Given the description of an element on the screen output the (x, y) to click on. 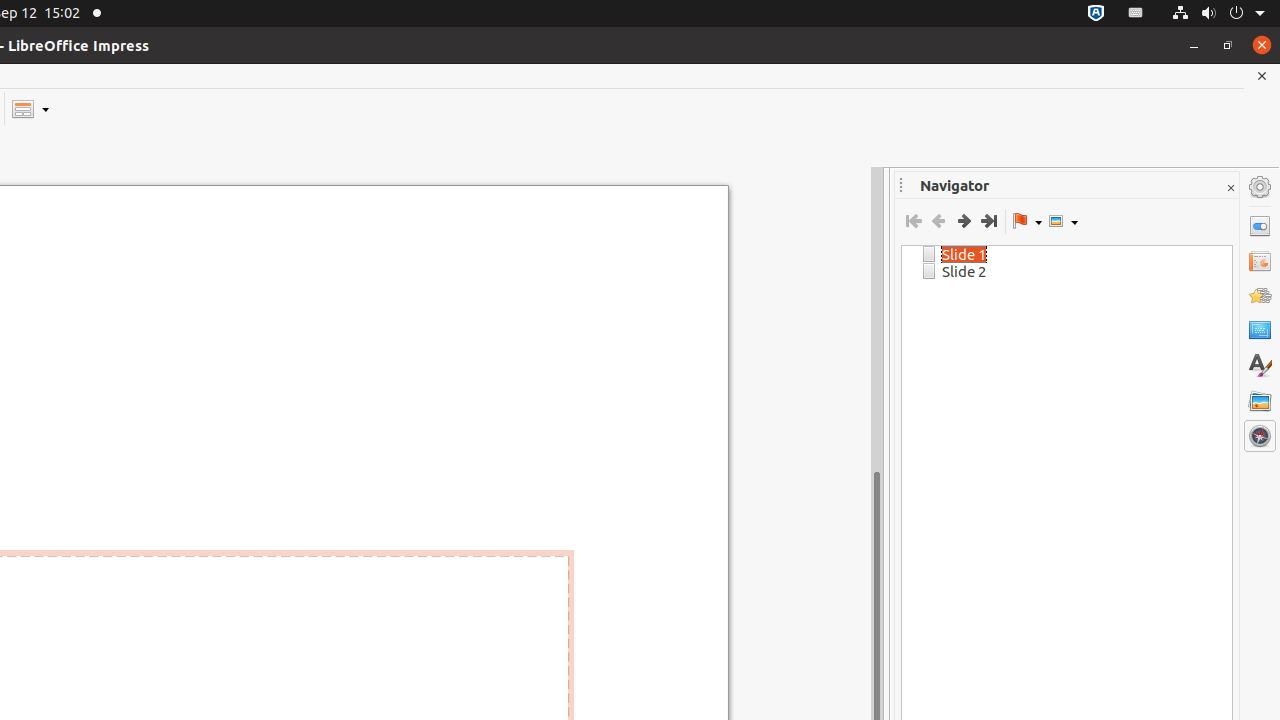
Styles Element type: radio-button (1260, 366)
Animation Element type: radio-button (1260, 296)
First Slide Element type: push-button (913, 221)
Slide Transition Element type: radio-button (1260, 261)
Previous Slide Element type: push-button (938, 221)
